Given the description of an element on the screen output the (x, y) to click on. 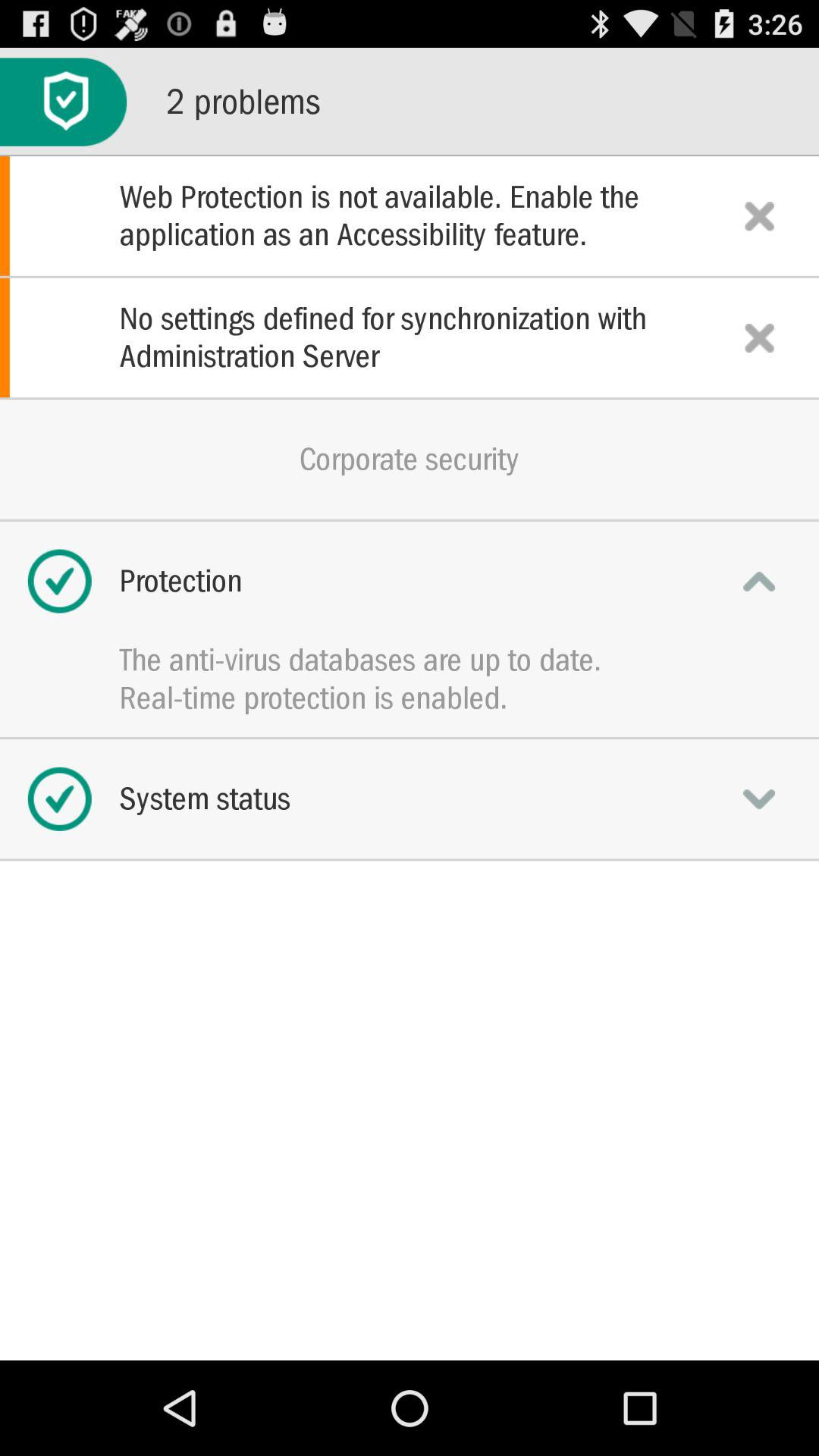
click the item above corporate security icon (409, 337)
